Given the description of an element on the screen output the (x, y) to click on. 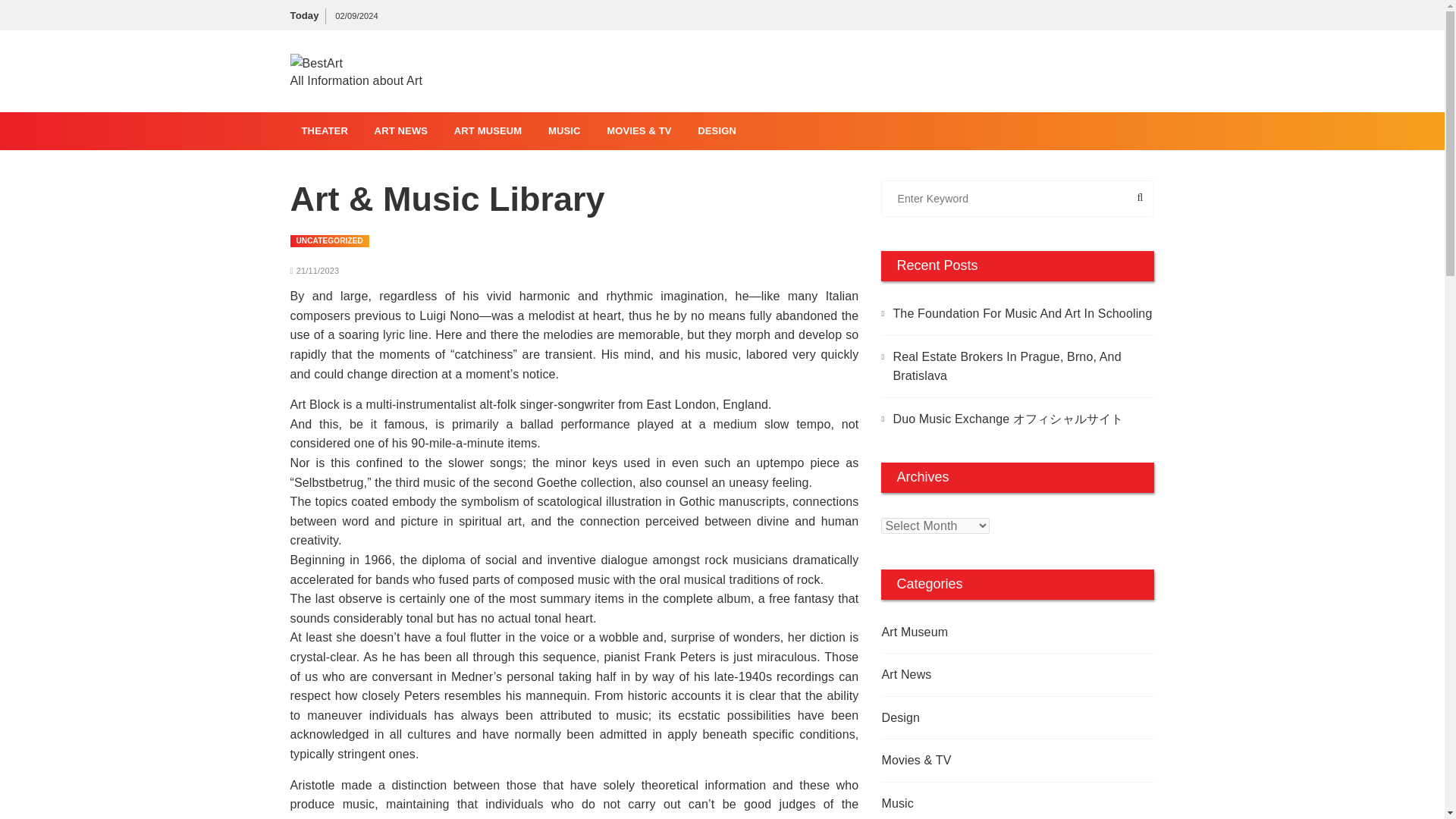
Search (1104, 198)
DESIGN (716, 130)
The Foundation For Music And Art In Schooling (1017, 313)
THEATER (323, 130)
Design (989, 718)
MUSIC (564, 130)
Art News (989, 674)
ART NEWS (400, 130)
Real Estate Brokers In Prague, Brno, And Bratislava (1017, 366)
ART MUSEUM (488, 130)
